Given the description of an element on the screen output the (x, y) to click on. 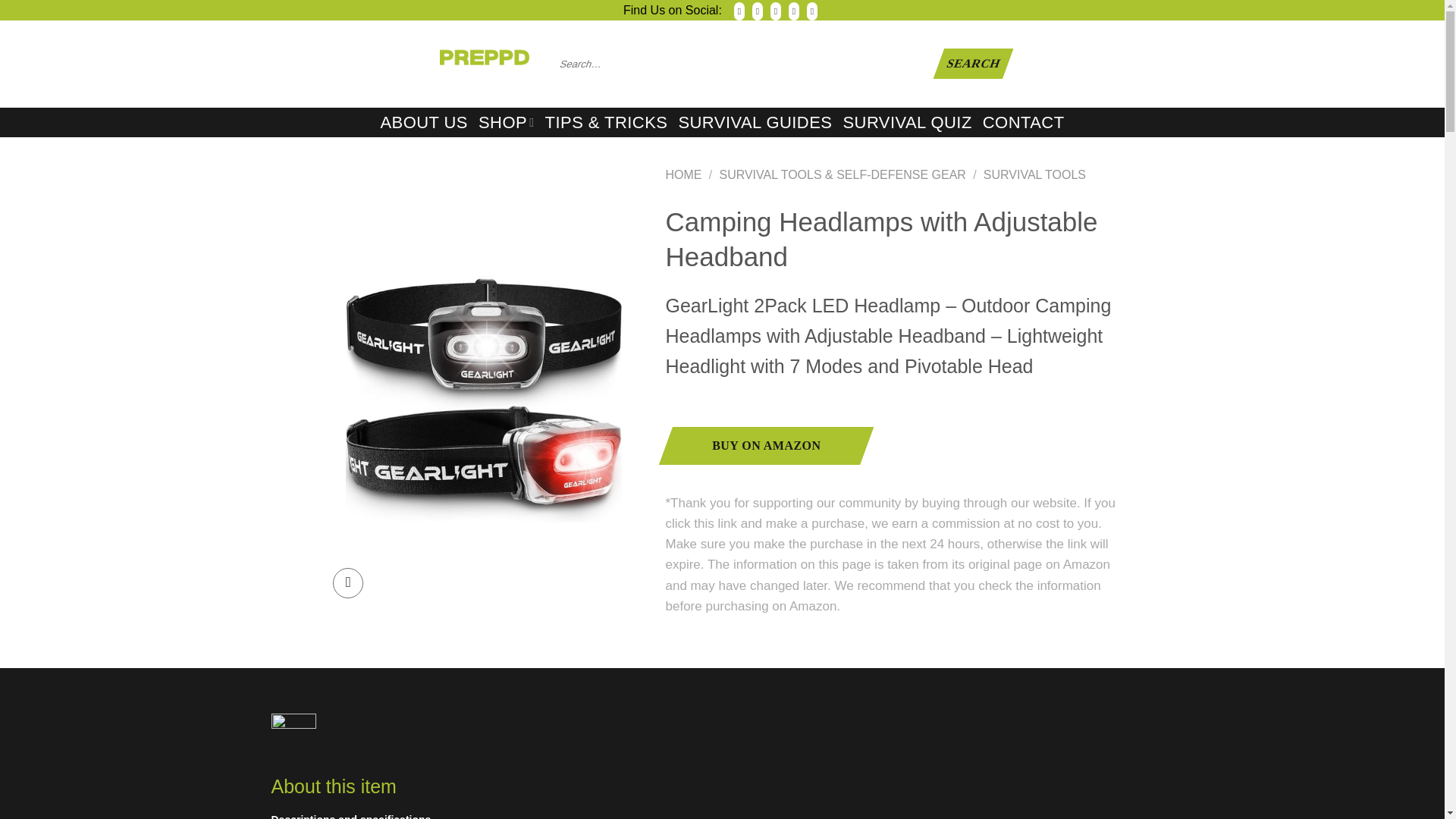
Life Preppd - Survival Simplified, Life Amplified (426, 64)
ABOUT US (423, 122)
SURVIVAL QUIZ (907, 122)
SHOP (506, 122)
Search (968, 63)
SURVIVAL GUIDES (754, 122)
Zoom (347, 583)
CONTACT (1023, 122)
HOME (683, 174)
BUY ON AMAZON (758, 445)
SURVIVAL TOOLS (1035, 174)
